Given the description of an element on the screen output the (x, y) to click on. 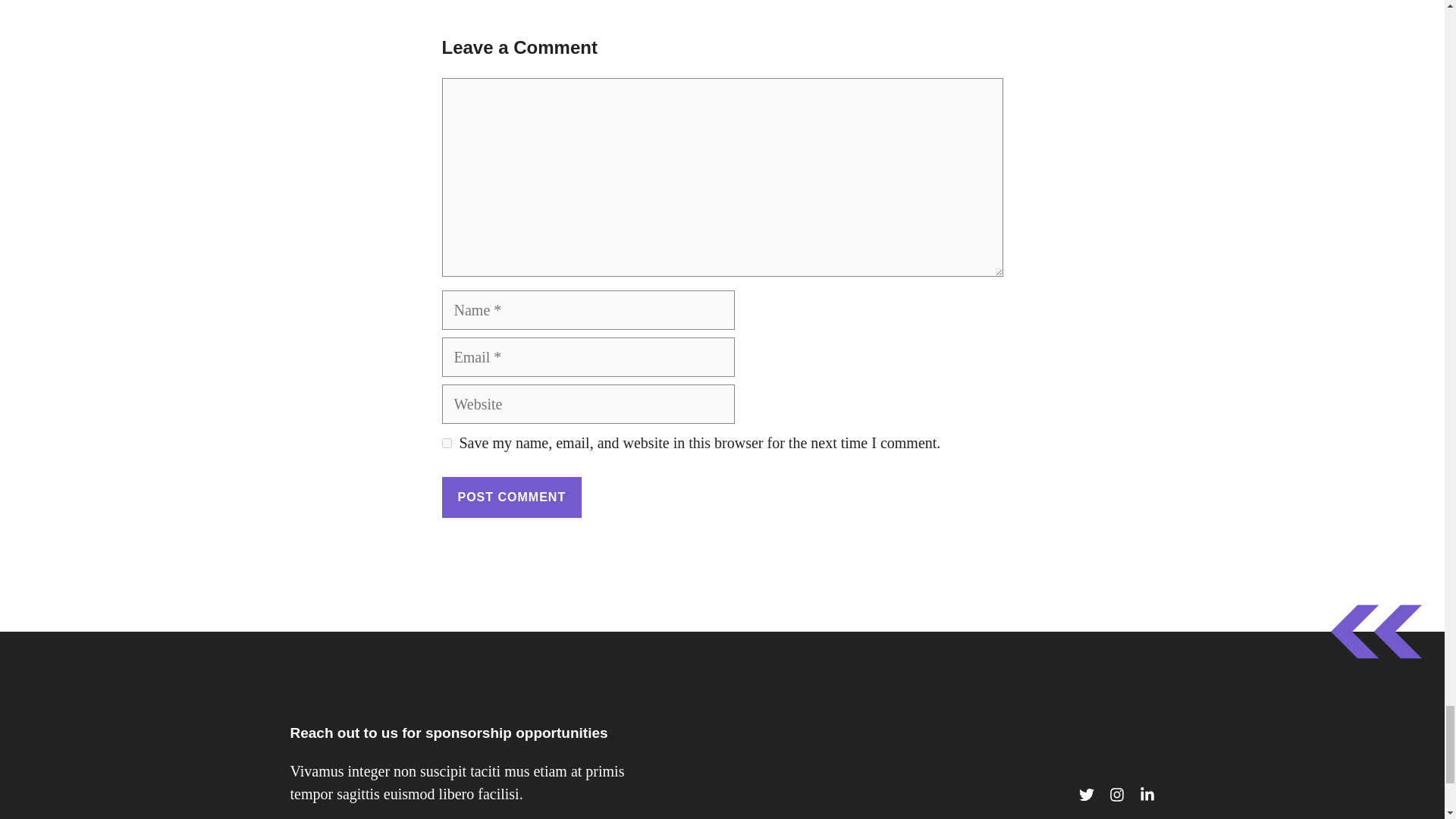
yes (446, 442)
Post Comment (510, 496)
Post Comment (510, 496)
